Given the description of an element on the screen output the (x, y) to click on. 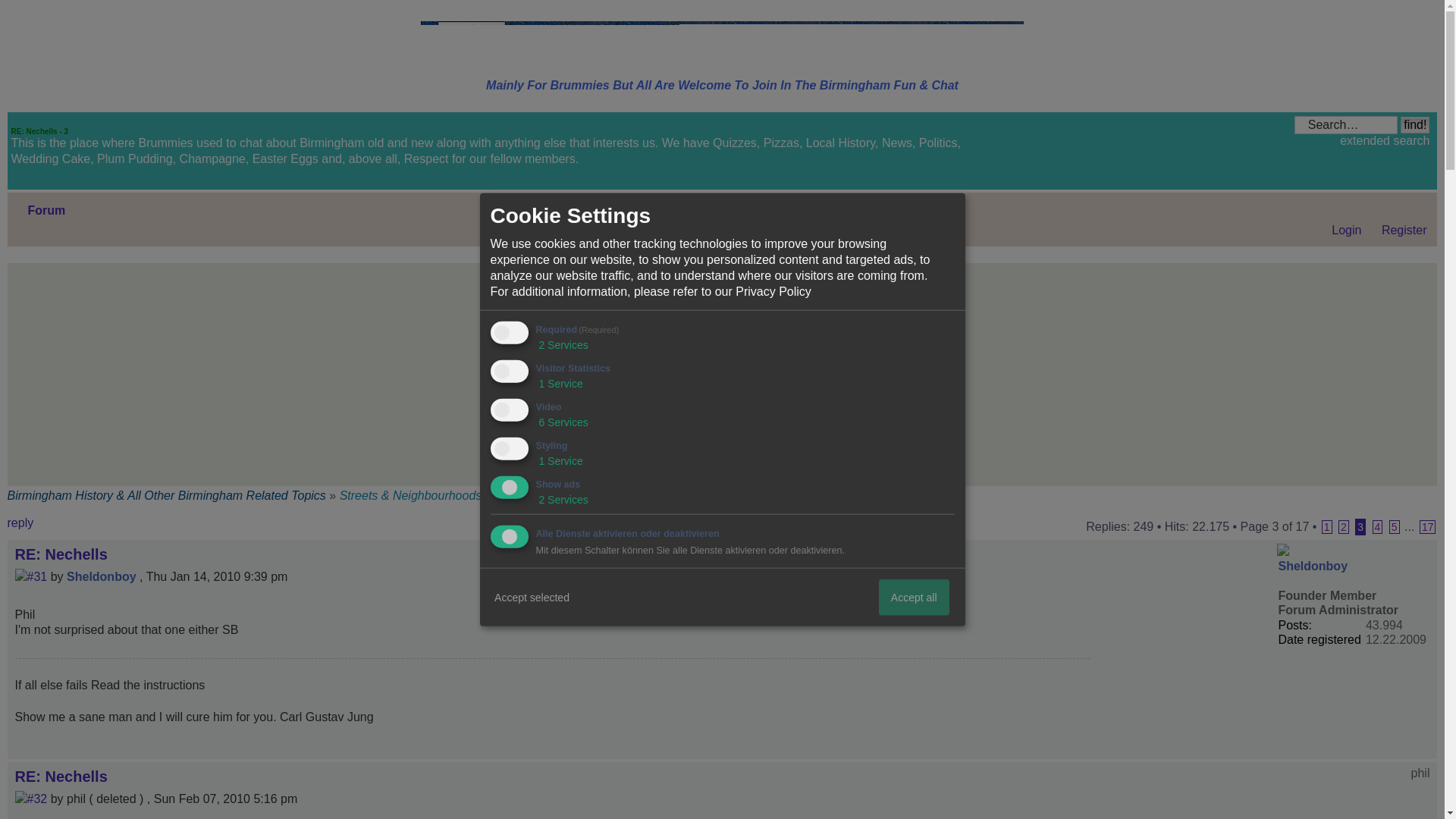
find! (1414, 125)
RE: Nechells (37, 576)
RE: Nechells (37, 798)
reply (53, 525)
17 (1427, 526)
Forum (46, 210)
extended search (1384, 140)
Top (1425, 750)
extended search (1384, 140)
Sheldonboy (1313, 565)
